Given the description of an element on the screen output the (x, y) to click on. 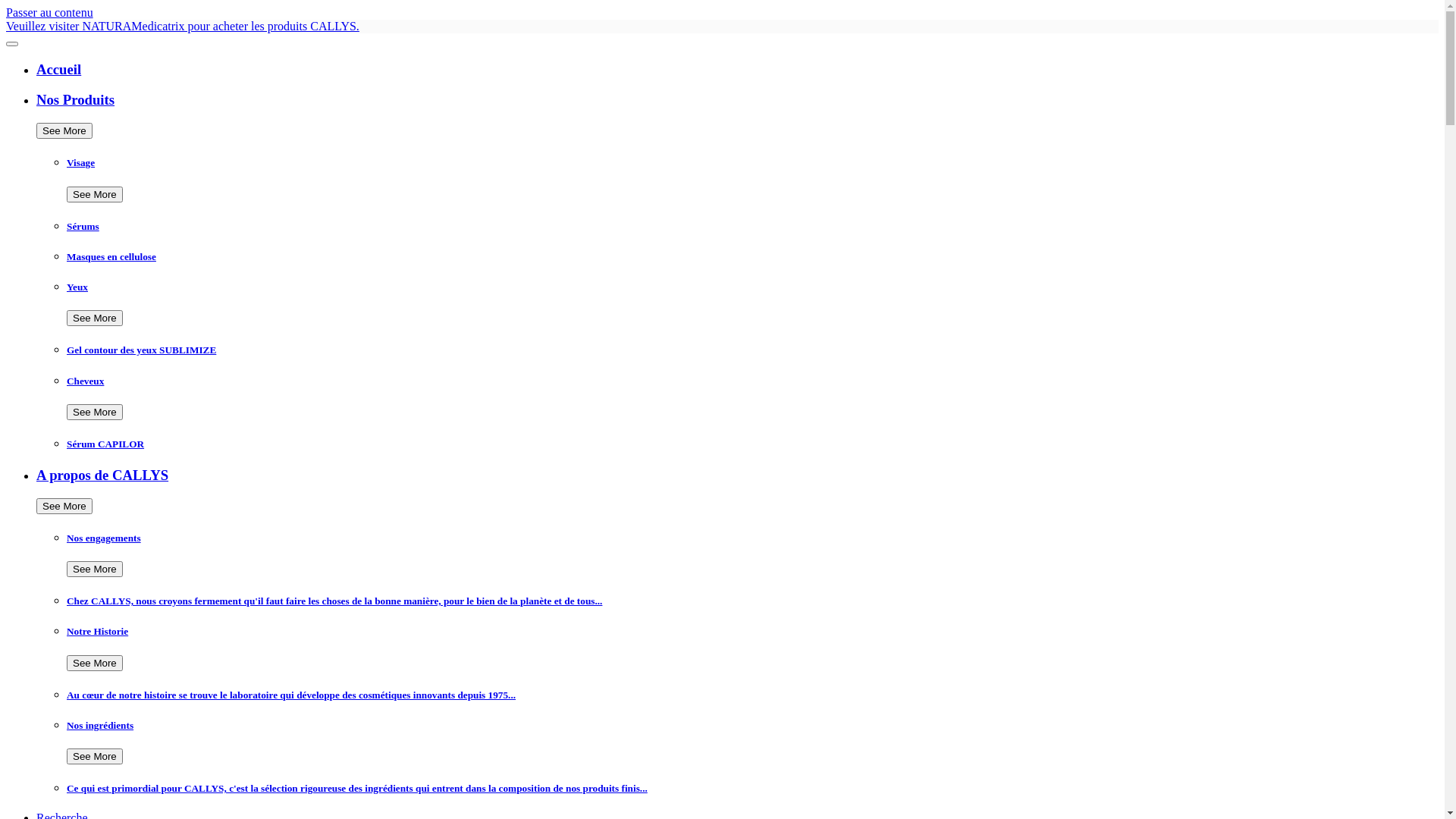
See More Element type: text (94, 194)
Nos engagements Element type: text (752, 538)
See More Element type: text (94, 756)
Yeux Element type: text (752, 287)
See More Element type: text (64, 130)
See More Element type: text (94, 569)
Accueil Element type: text (737, 69)
A propos de CALLYS Element type: text (737, 475)
See More Element type: text (94, 663)
See More Element type: text (94, 318)
See More Element type: text (64, 506)
Passer au contenu Element type: text (49, 12)
Cheveux Element type: text (752, 381)
Gel contour des yeux SUBLIMIZE Element type: text (752, 350)
Masques en cellulose Element type: text (752, 257)
See More Element type: text (94, 412)
Visage Element type: text (752, 162)
Notre Historie Element type: text (752, 631)
Nos Produits Element type: text (737, 99)
